Given the description of an element on the screen output the (x, y) to click on. 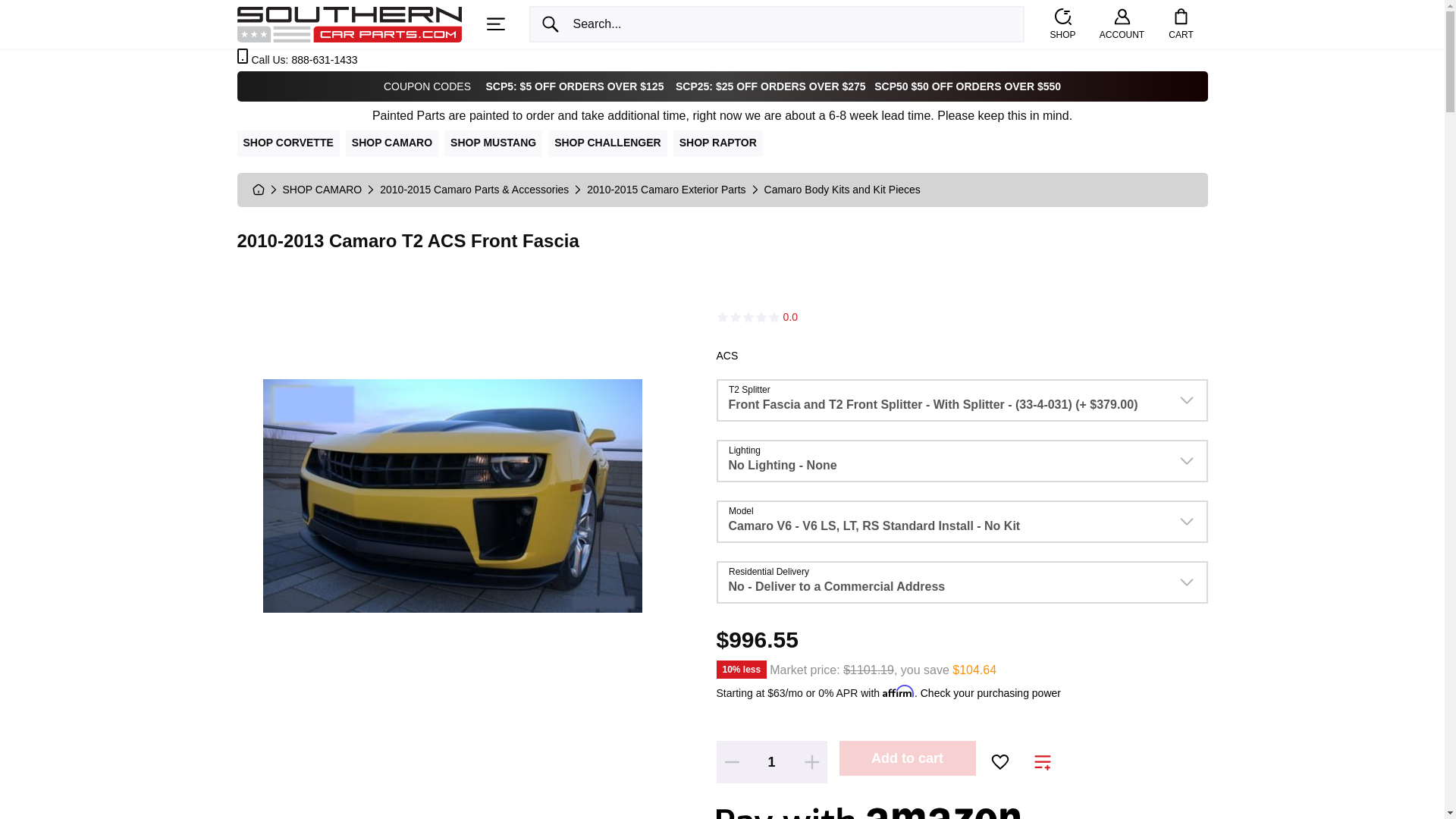
Quantity (770, 761)
Search (550, 23)
1 (770, 761)
Home (348, 23)
SHOP (1062, 24)
on (1042, 762)
Add to wishlist (999, 762)
888-631-1433 (323, 60)
